Given the description of an element on the screen output the (x, y) to click on. 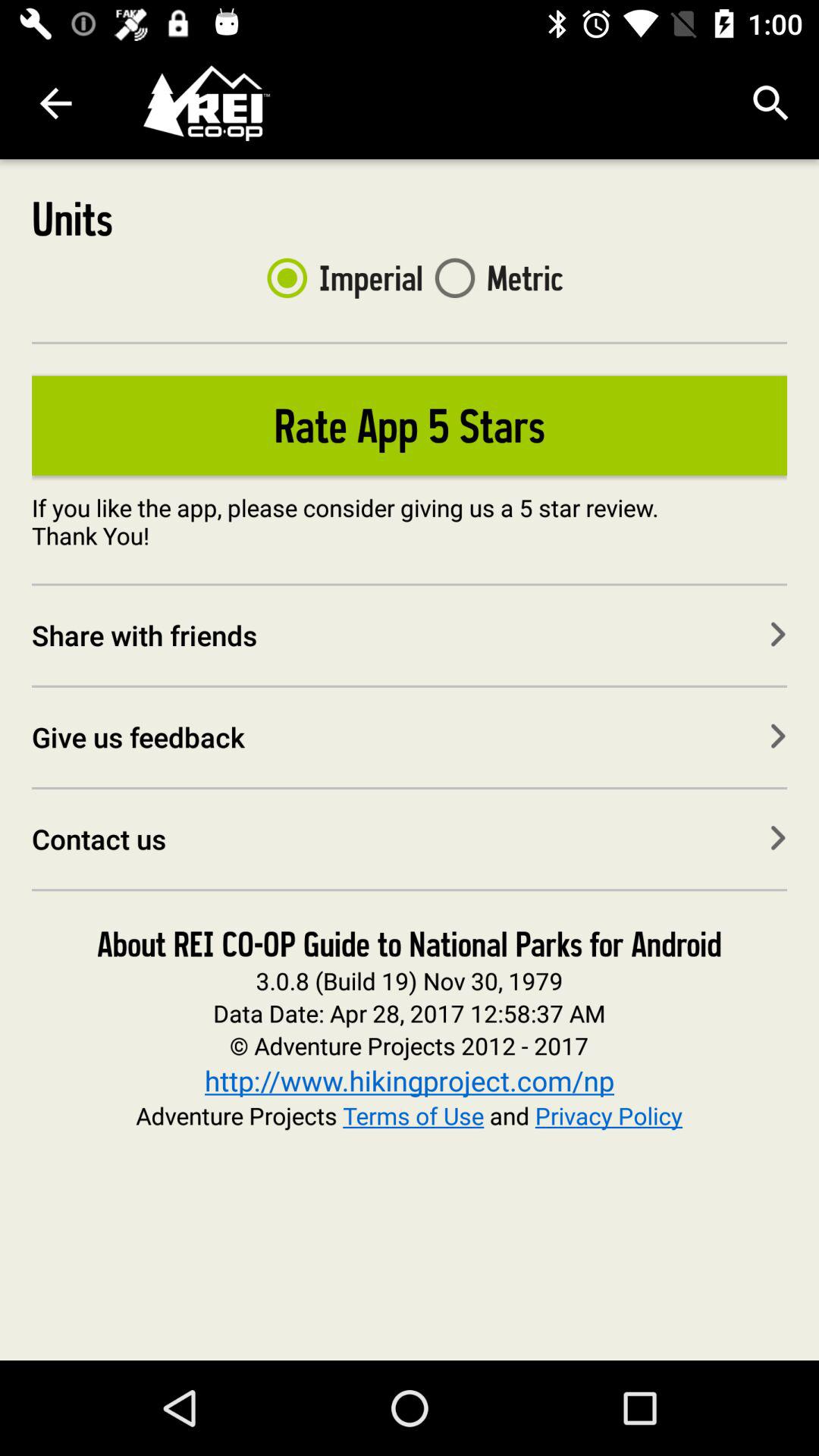
launch the http www hikingproject icon (409, 1080)
